Given the description of an element on the screen output the (x, y) to click on. 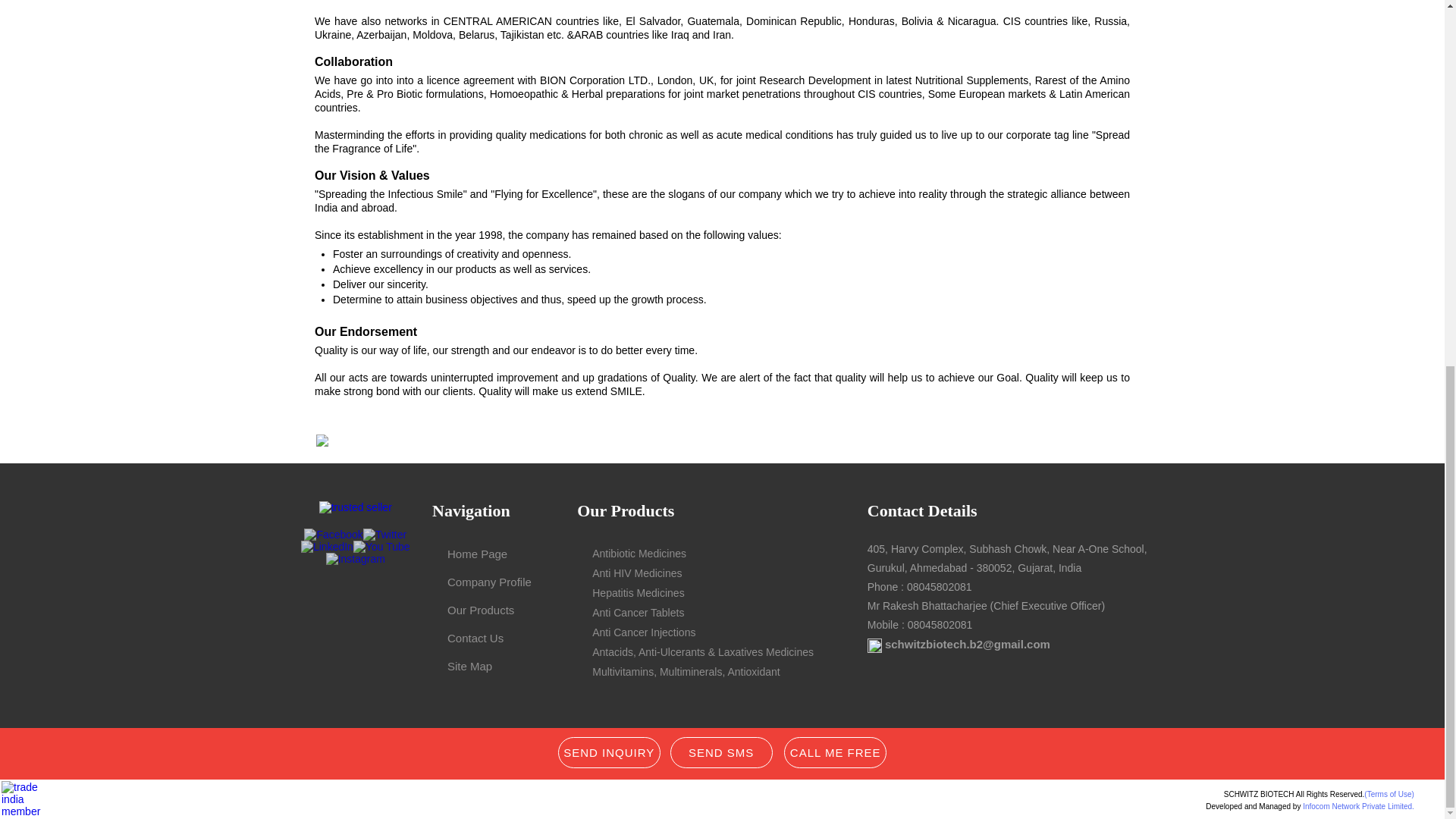
You Tube (381, 546)
Facebook (333, 534)
Accepts only Export Inquiries (874, 645)
Instagram (355, 558)
Twitter (384, 534)
LinkedIn (327, 546)
